Given the description of an element on the screen output the (x, y) to click on. 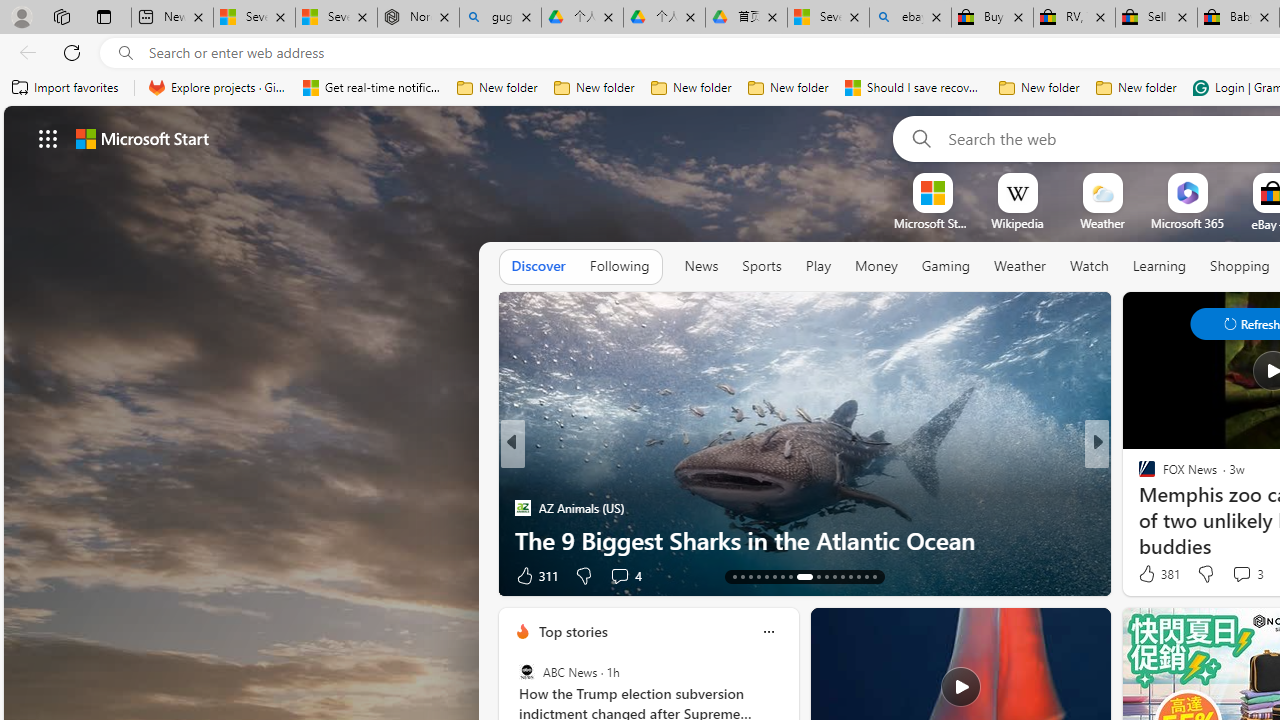
AutomationID: tab-19 (782, 576)
guge yunpan - Search (500, 17)
Workspaces (61, 16)
CNET (1138, 507)
Gaming (945, 267)
View comments 2 Comment (1229, 575)
View comments 10 Comment (1229, 575)
Learning (1159, 267)
RV, Trailer & Camper Steps & Ladders for sale | eBay (1074, 17)
Wikipedia (1017, 223)
Watch (1089, 267)
AutomationID: tab-15 (750, 576)
Refresh (72, 52)
Microsoft start (142, 138)
